Given the description of an element on the screen output the (x, y) to click on. 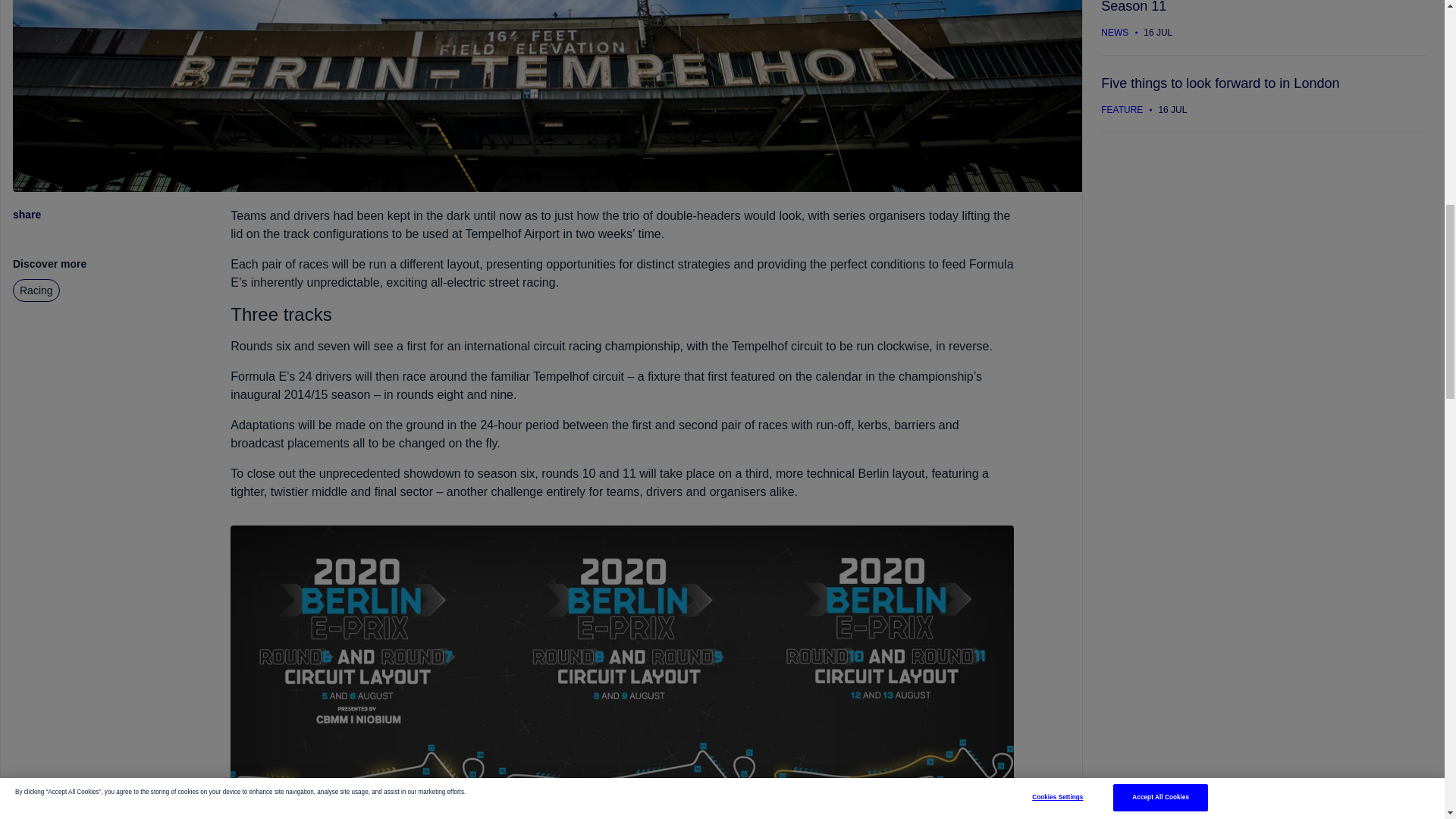
Five things to look forward to in London (1262, 93)
Search racing (36, 290)
